Given the description of an element on the screen output the (x, y) to click on. 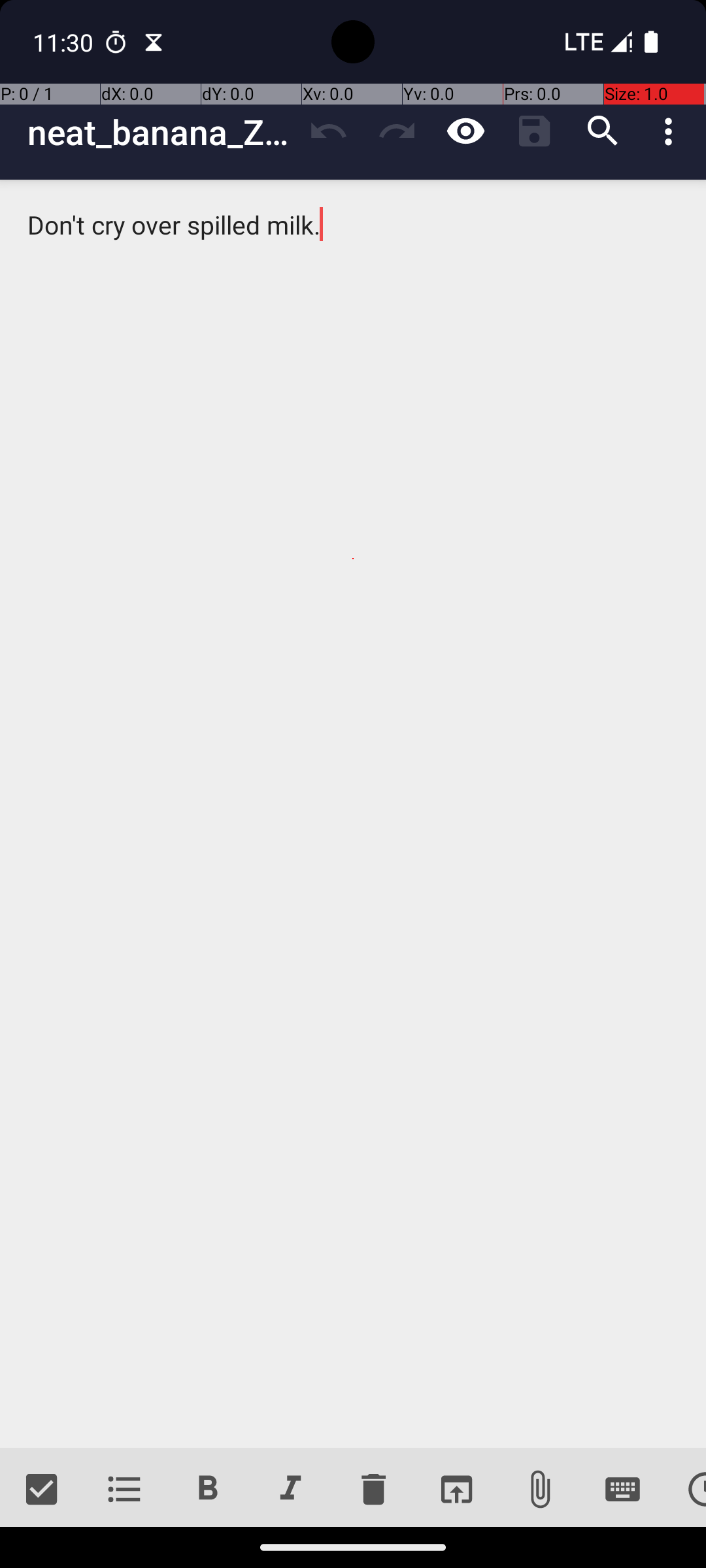
neat_banana_Zjqa Element type: android.widget.TextView (160, 131)
Don't cry over spilled milk.
 Element type: android.widget.EditText (353, 813)
11:30 Element type: android.widget.TextView (64, 41)
